Given the description of an element on the screen output the (x, y) to click on. 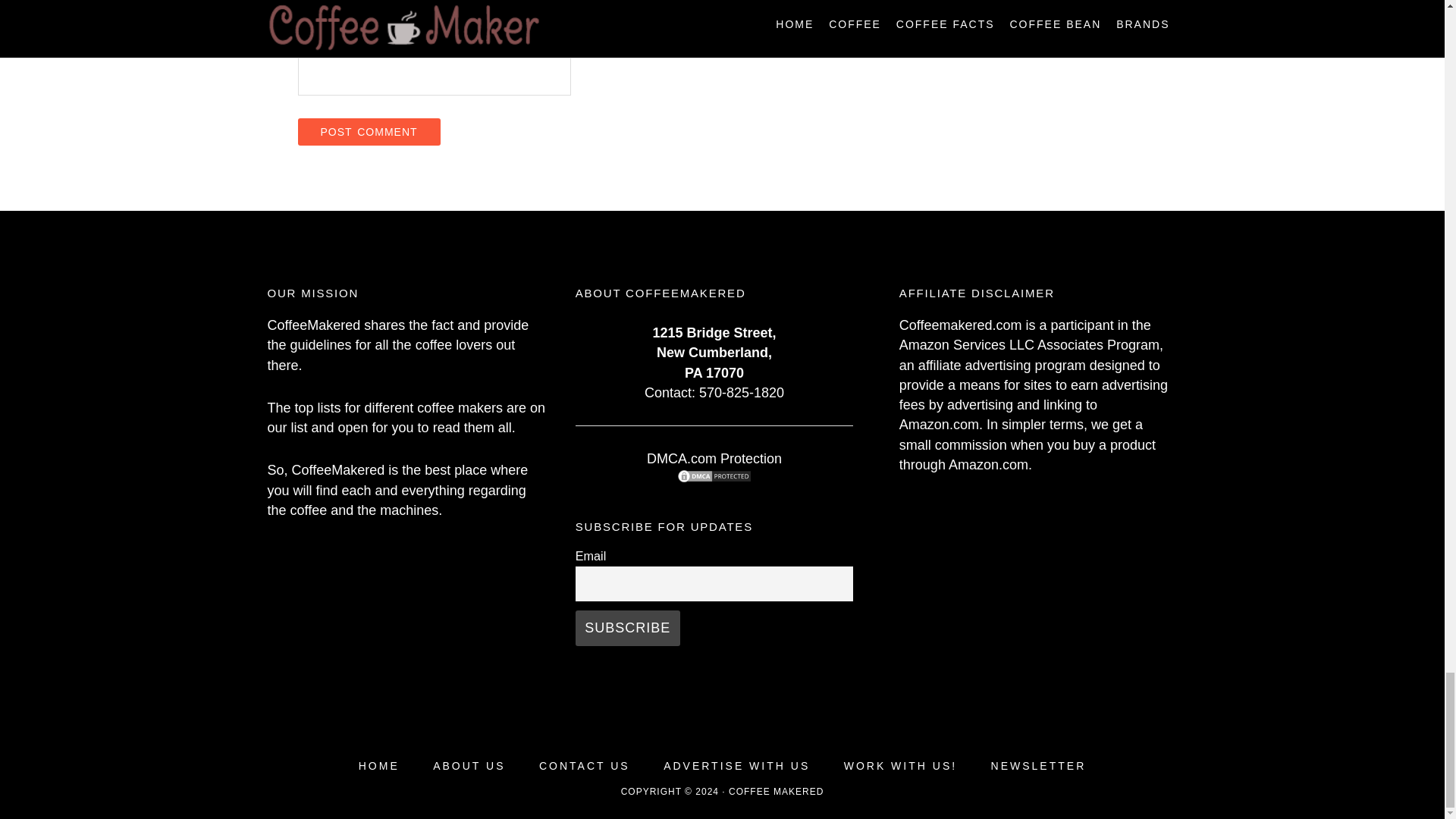
Subscribe (627, 627)
Post Comment (368, 131)
Post Comment (368, 131)
DMCA.com Protection Status (714, 478)
